Given the description of an element on the screen output the (x, y) to click on. 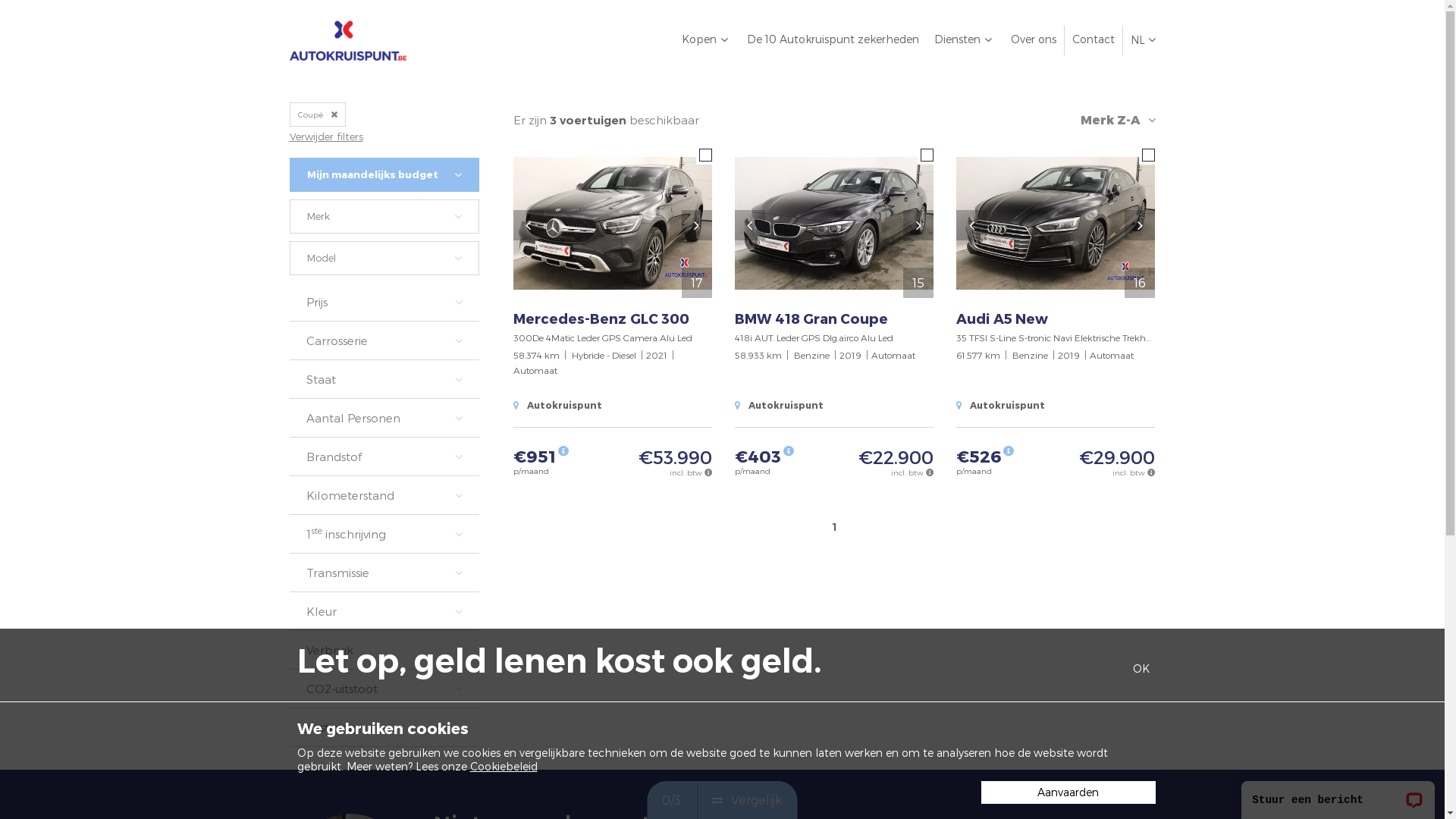
Merk Z-A Element type: text (1108, 120)
Diensten Element type: text (964, 39)
Kopen Element type: text (705, 39)
Brandstof Element type: text (384, 456)
BMW 418 Gran Coupe Element type: text (833, 318)
 Autokruispunt Element type: text (556, 404)
Audi A5 New Element type: text (1055, 318)
Over ons Element type: text (1032, 39)
 Autokruispunt Element type: text (1000, 404)
Aantal Personen Element type: text (384, 417)
CO2-uitstoot Element type: text (384, 688)
Verbruik Element type: text (384, 649)
Prijs Element type: text (384, 301)
Next Element type: text (696, 225)
Previous Element type: text (527, 225)
Model Element type: text (384, 258)
Vestiging Element type: text (384, 727)
Next Element type: text (1139, 225)
Kilometerstand Element type: text (384, 495)
Contact Element type: text (1092, 39)
1ste inschrijving Element type: text (384, 533)
Staat Element type: text (384, 379)
Cookiebeleid Element type: text (503, 765)
Previous Element type: text (971, 225)
Mijn maandelijks budget Element type: text (384, 174)
 Autokruispunt Element type: text (778, 404)
Transmissie Element type: text (384, 572)
Merk Element type: text (384, 216)
Next Element type: text (918, 225)
Verwijder filters Element type: text (326, 136)
Carrosserie Element type: text (384, 340)
De 10 Autokruispunt zekerheden Element type: text (831, 39)
NL Element type: text (1141, 40)
Kleur Element type: text (384, 611)
Previous Element type: text (749, 225)
Mercedes-Benz GLC 300 Element type: text (611, 318)
